Given the description of an element on the screen output the (x, y) to click on. 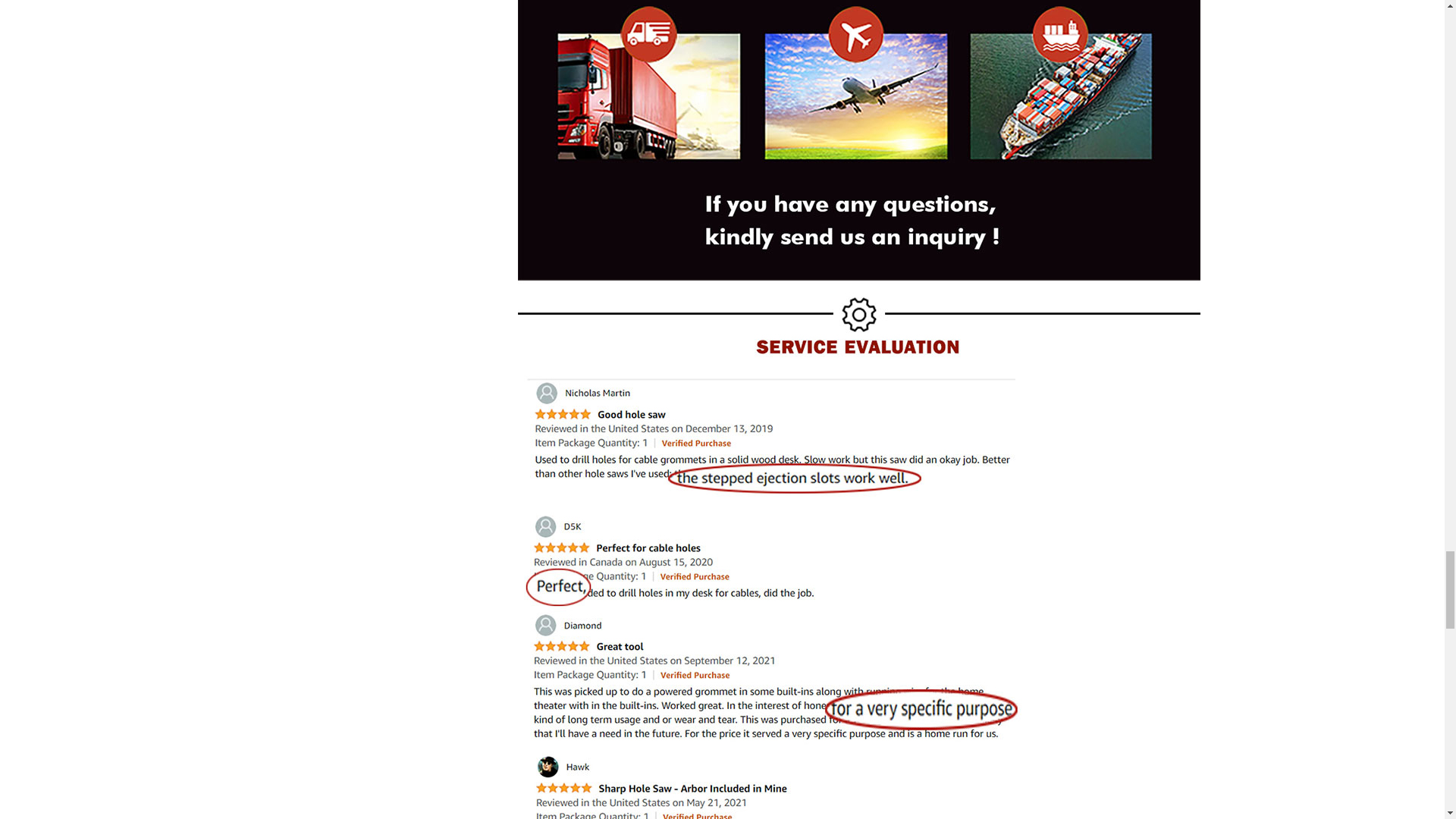
6781678180266665.jpg (857, 781)
